Given the description of an element on the screen output the (x, y) to click on. 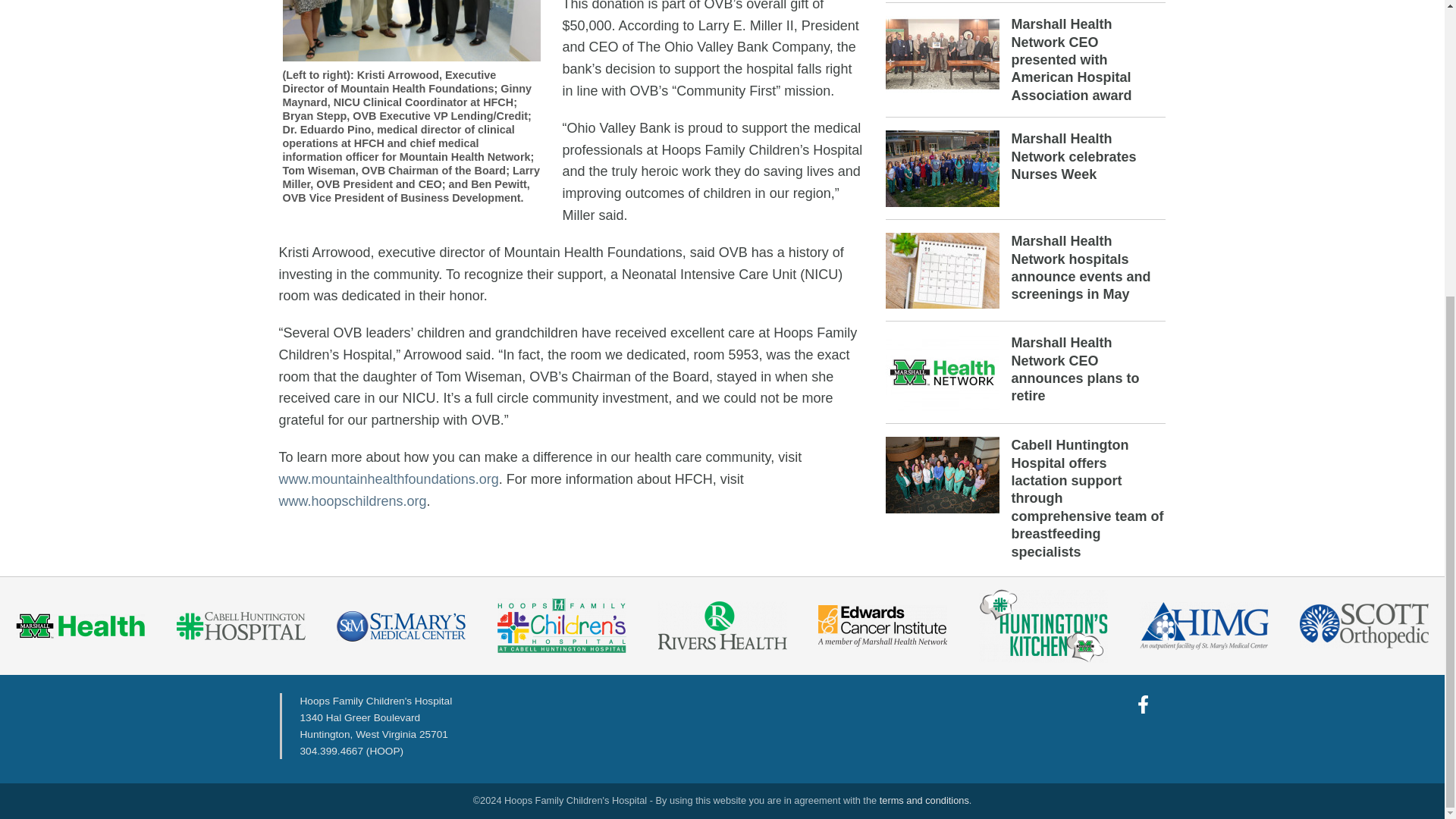
Facebook (1143, 704)
